Given the description of an element on the screen output the (x, y) to click on. 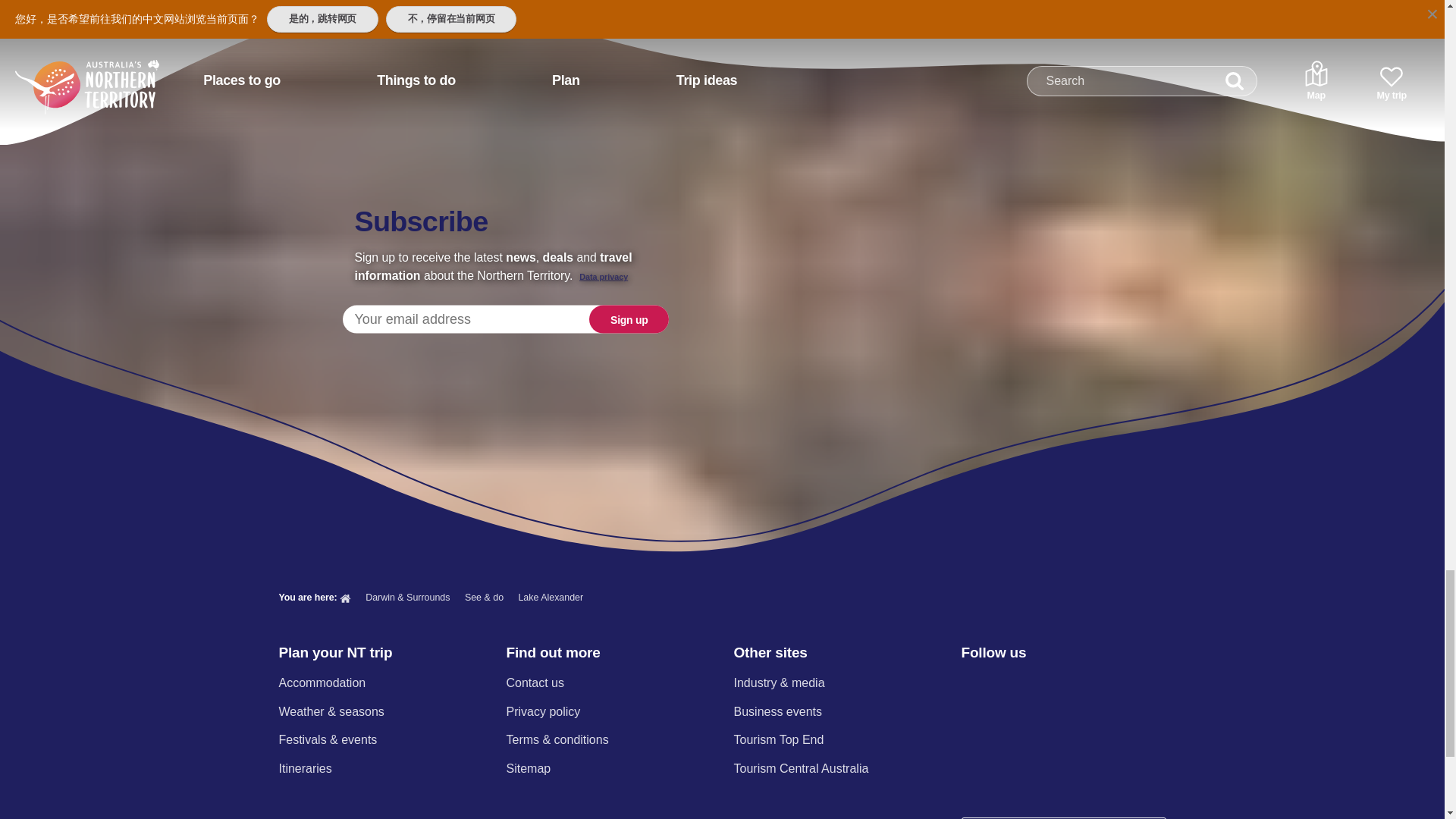
Trip Advisor (1129, 684)
Facebook (970, 684)
YouTube (1089, 684)
Twitter (1050, 684)
Instagram (1009, 684)
